Given the description of an element on the screen output the (x, y) to click on. 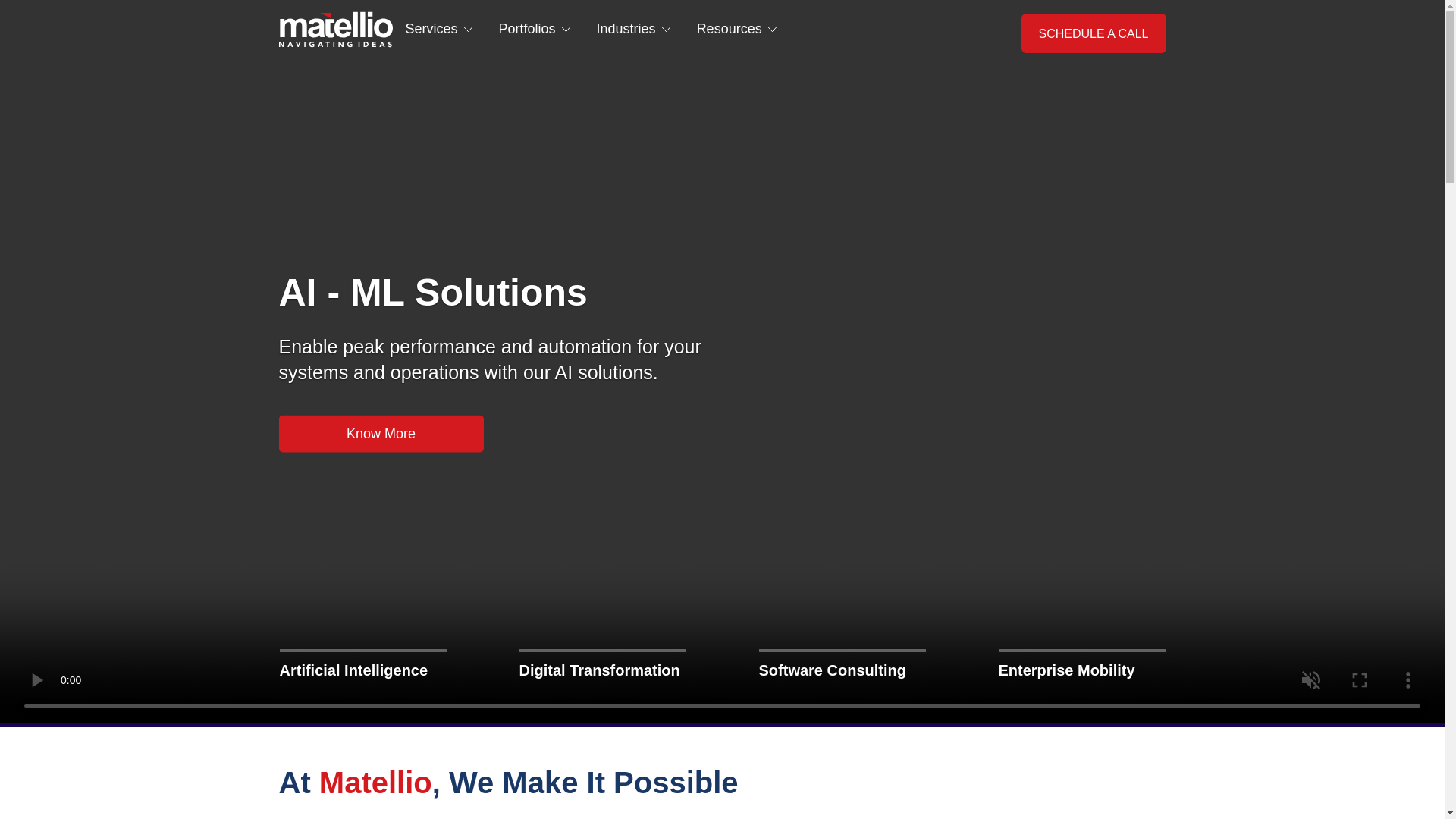
Matellio Software Development Company (336, 29)
Services (437, 29)
